Given the description of an element on the screen output the (x, y) to click on. 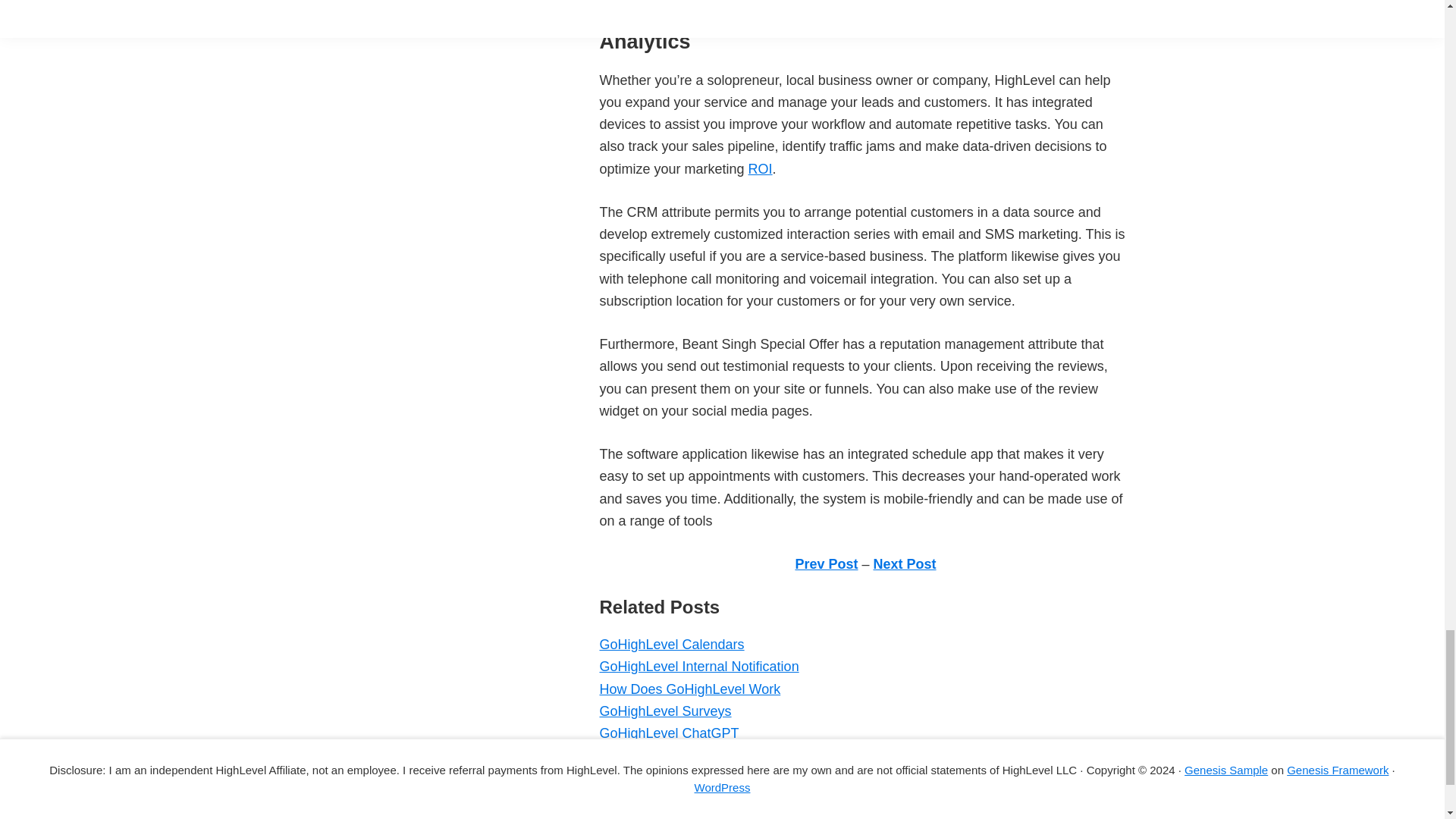
GoHighLevel Surveys (664, 711)
GoHighLevel Office (657, 816)
GoHighLevel Office (657, 816)
Prev Post (825, 563)
ROI (760, 168)
GoHighLevel SMS Automation (690, 777)
GoHighLevel SMS Automation (690, 777)
GoHighLevel Internal Notification (697, 666)
GoHighLevel Internal Notification (697, 666)
GoHighLevel Summit (663, 799)
